Given the description of an element on the screen output the (x, y) to click on. 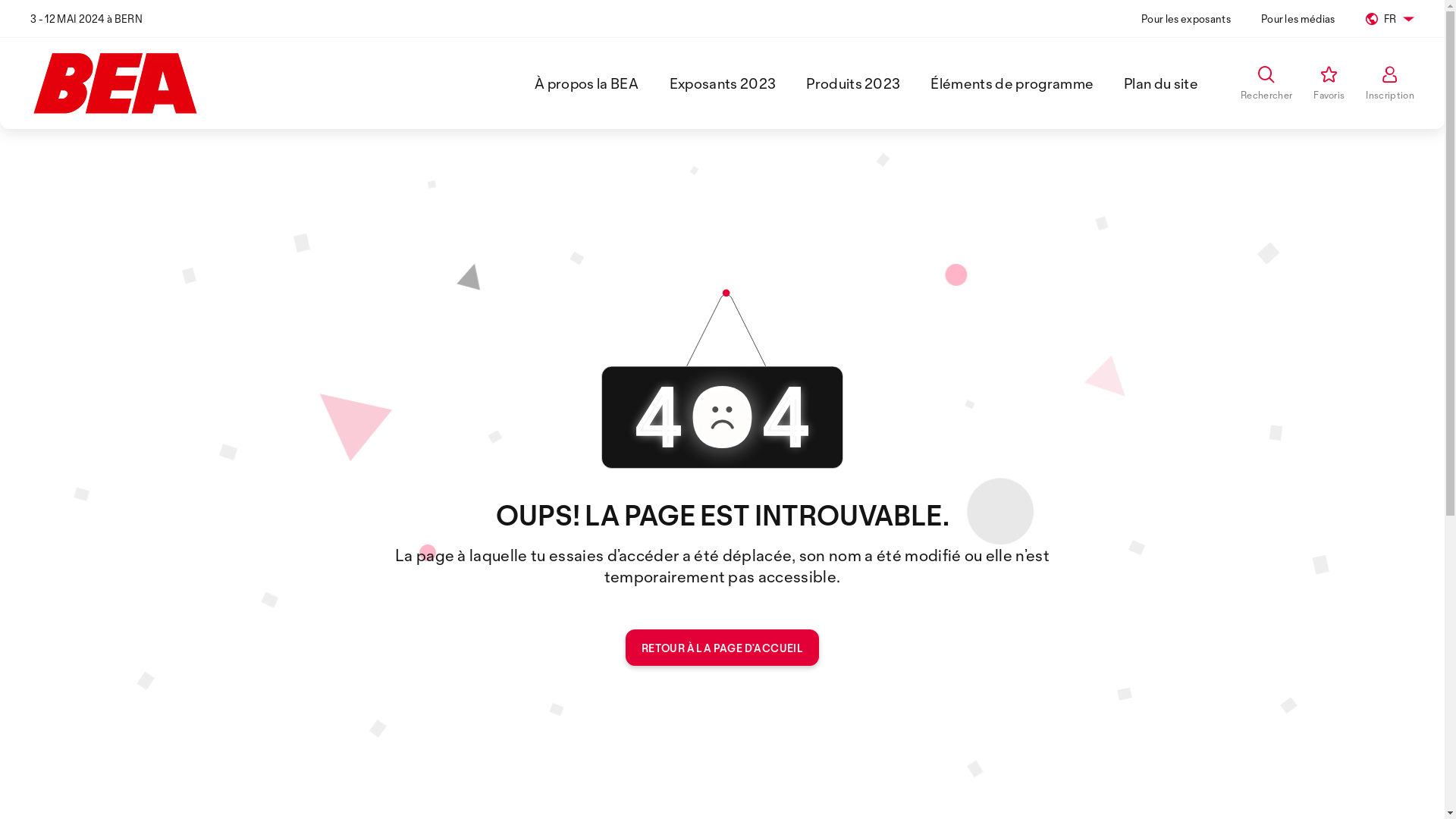
Pour les exposants Element type: text (1185, 17)
Consent Choices Element type: text (757, 789)
Produits 2023 Element type: text (853, 83)
Rechercher Element type: text (1266, 82)
COMMANDER LA NEWSLETTER Element type: text (574, 680)
Inscription Element type: text (1389, 82)
Exposants 2023 Element type: text (722, 83)
Favoris Element type: text (1328, 82)
Plan du site Element type: text (1160, 83)
